Given the description of an element on the screen output the (x, y) to click on. 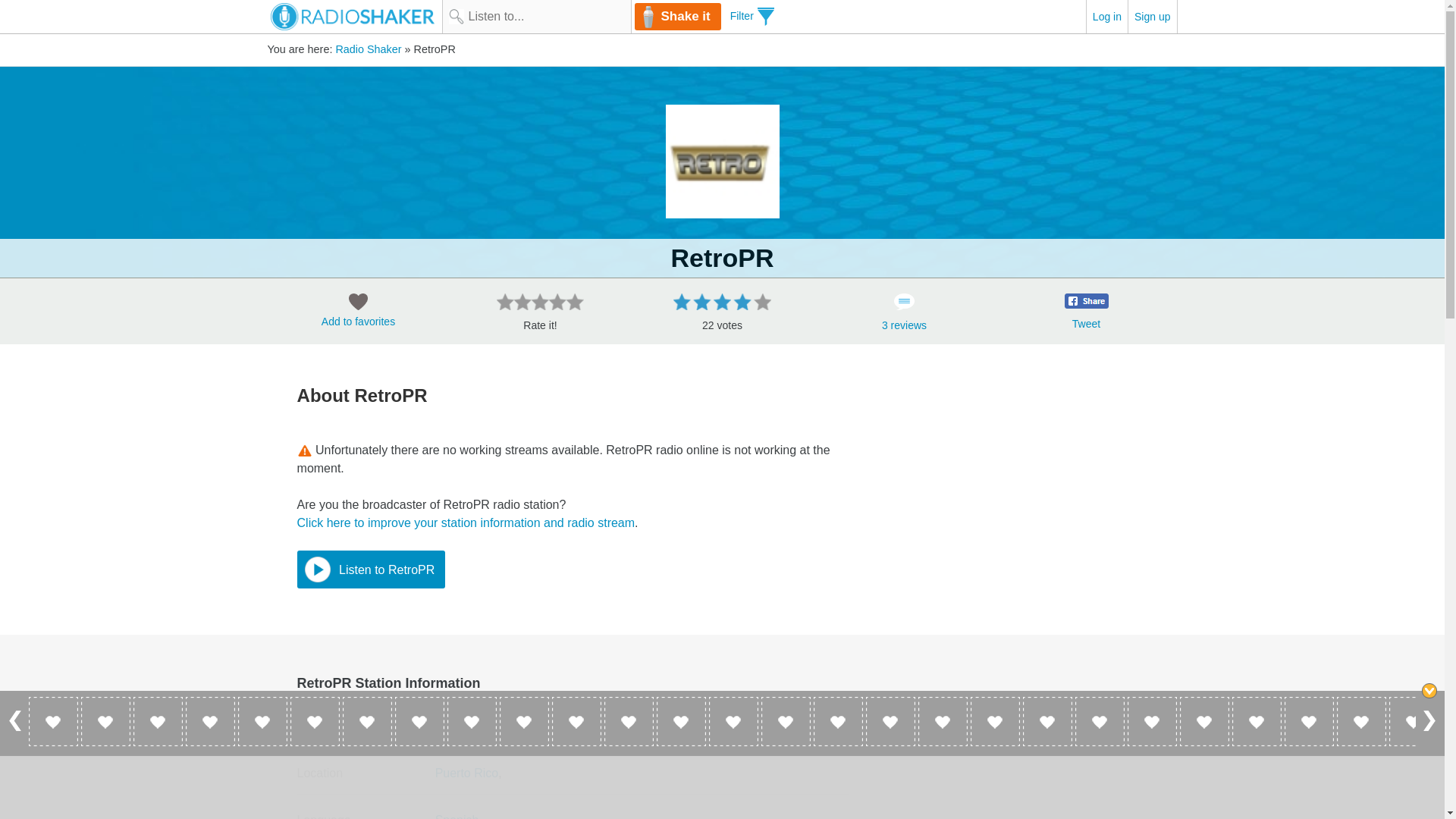
3 reviews (904, 317)
Radio Shaker (367, 49)
Shake it (676, 16)
Retro (449, 725)
Spanish (457, 816)
Listen to RetroPR online Radio (721, 161)
Sign up (1152, 16)
Share RetroPR on FaceBook (1086, 300)
Filter (752, 15)
80s (488, 725)
Listen to RetroPR (371, 569)
Tweet (1085, 323)
Add to favorites (357, 313)
